Given the description of an element on the screen output the (x, y) to click on. 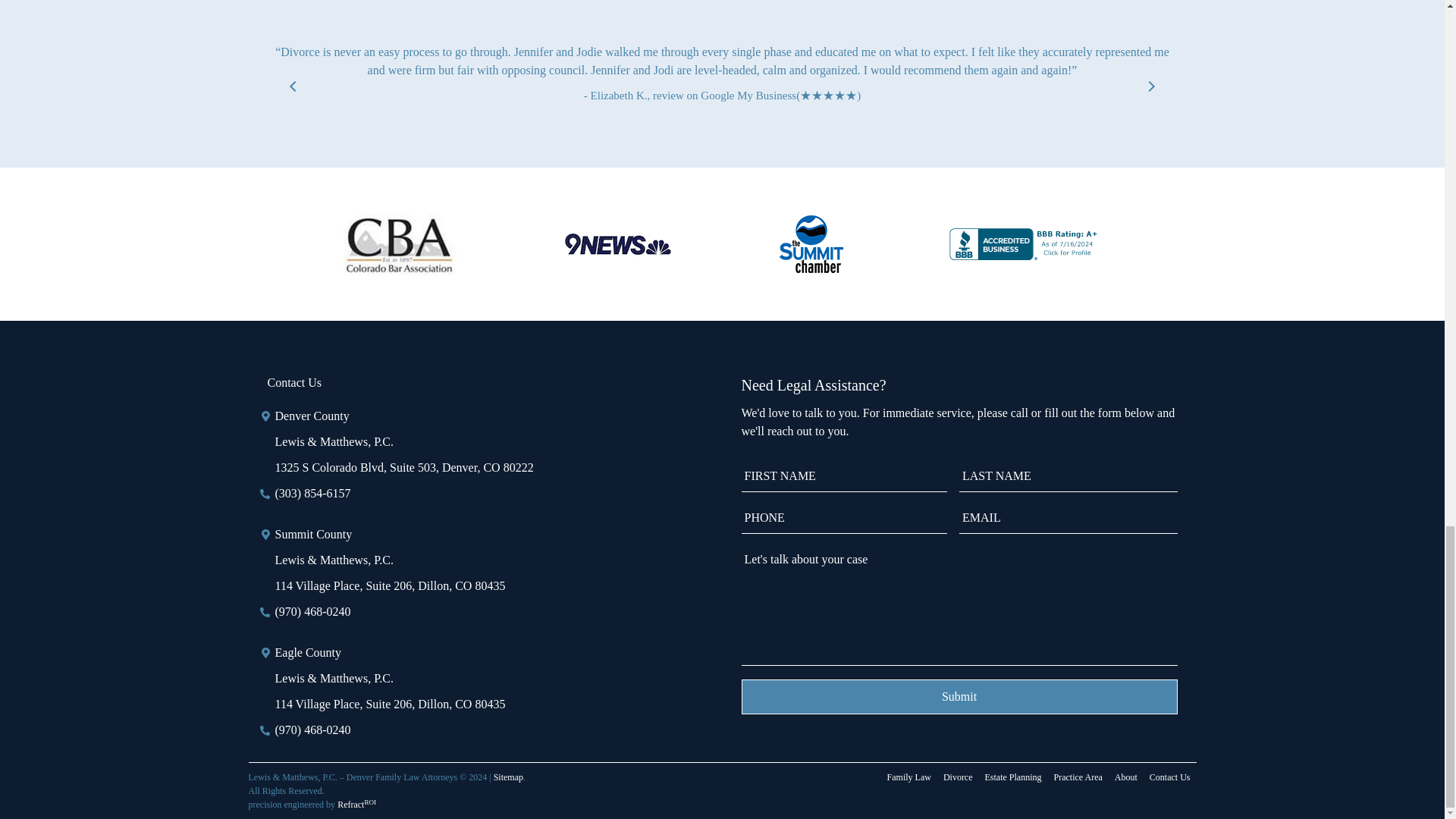
Submit (959, 696)
